Given the description of an element on the screen output the (x, y) to click on. 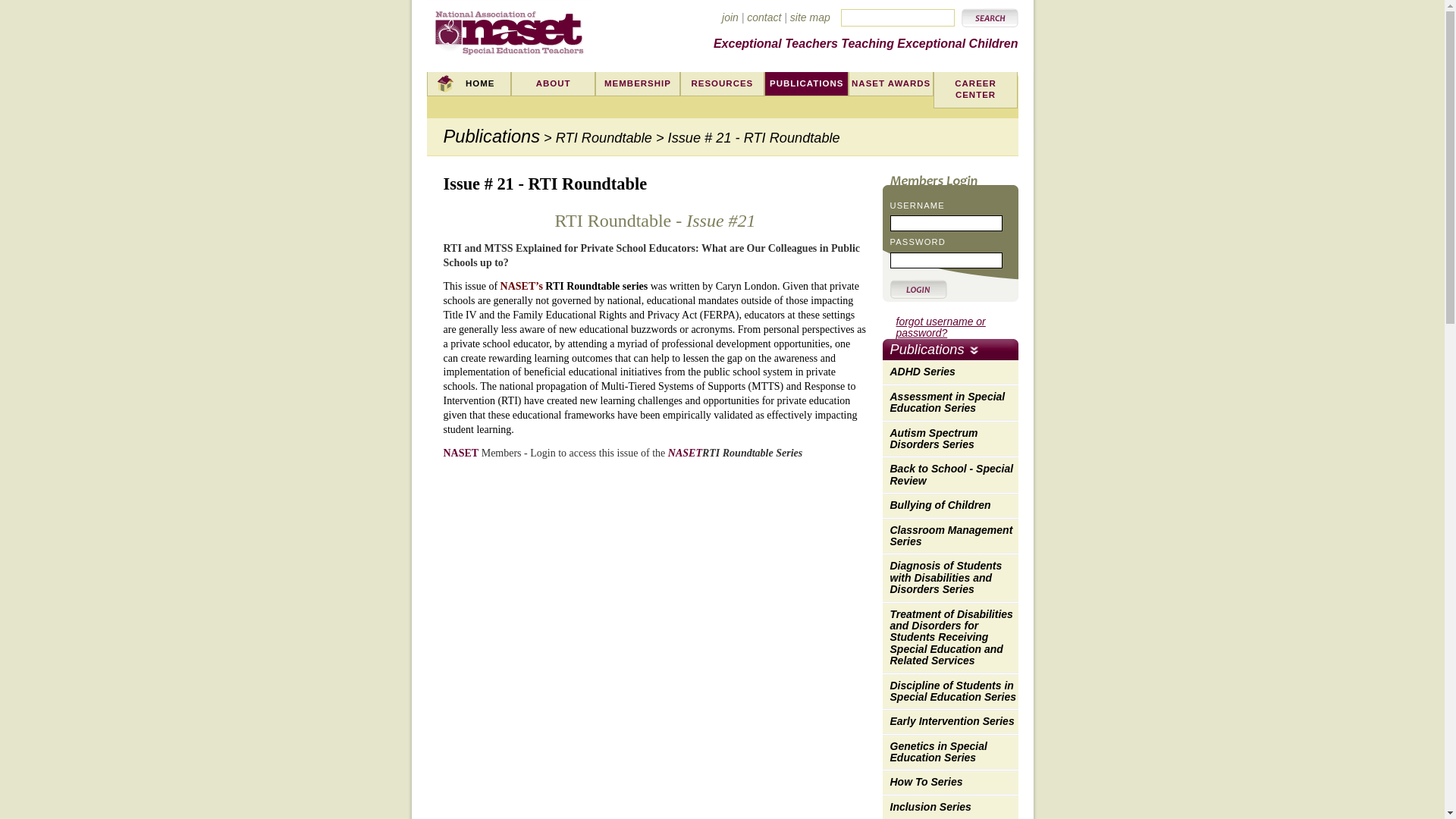
contact (763, 17)
ABOUT (553, 84)
NASET.org Home Page (509, 30)
MEMBERSHIP (637, 84)
RESOURCES (721, 84)
HOME (468, 84)
Publications (491, 136)
site map (809, 17)
join (730, 17)
RTI Roundtable (604, 137)
NASET.org Home Page (509, 30)
